Given the description of an element on the screen output the (x, y) to click on. 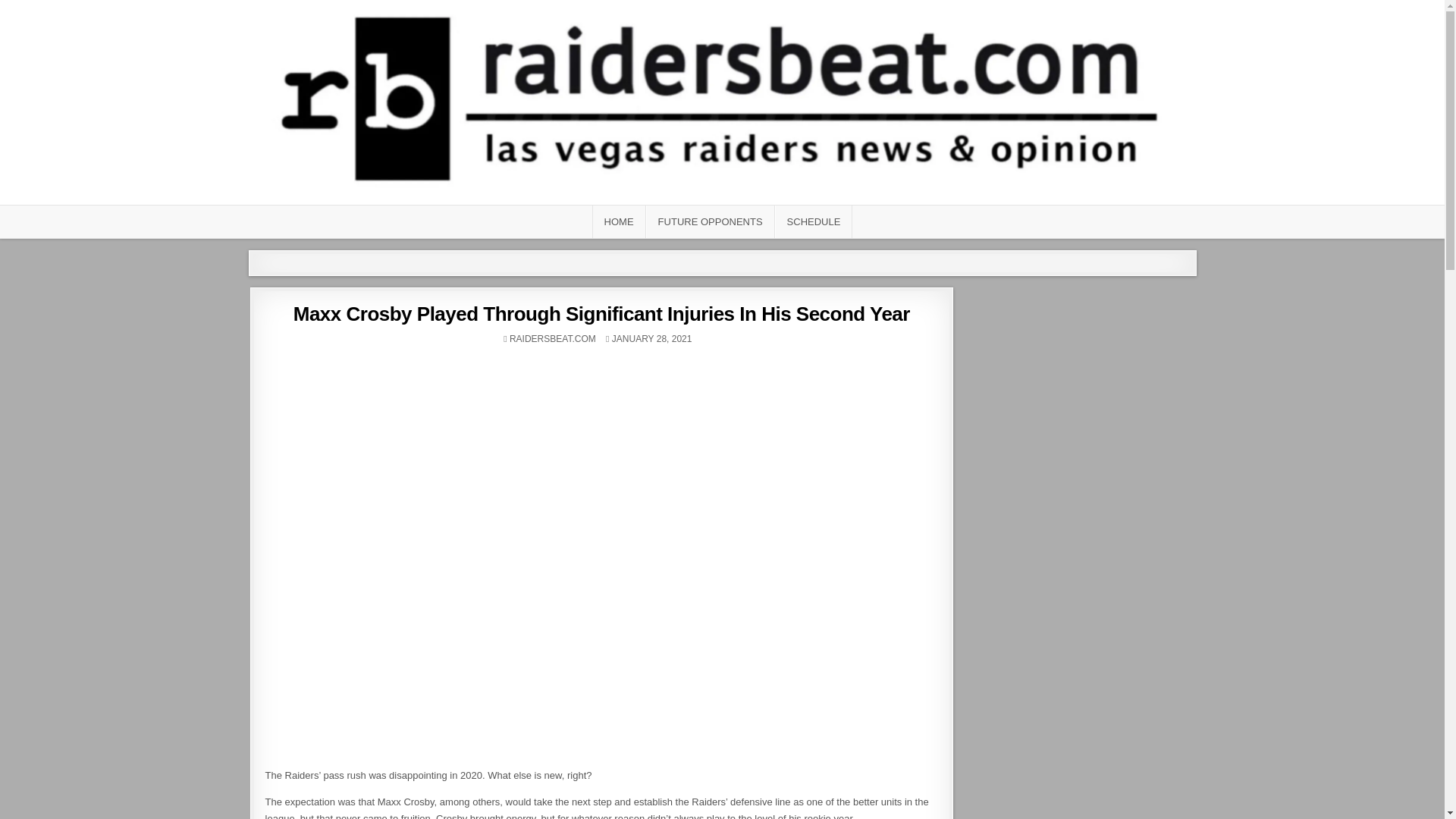
RAIDERSBEAT.COM (552, 338)
FUTURE OPPONENTS (710, 221)
SCHEDULE (813, 221)
HOME (619, 221)
